Given the description of an element on the screen output the (x, y) to click on. 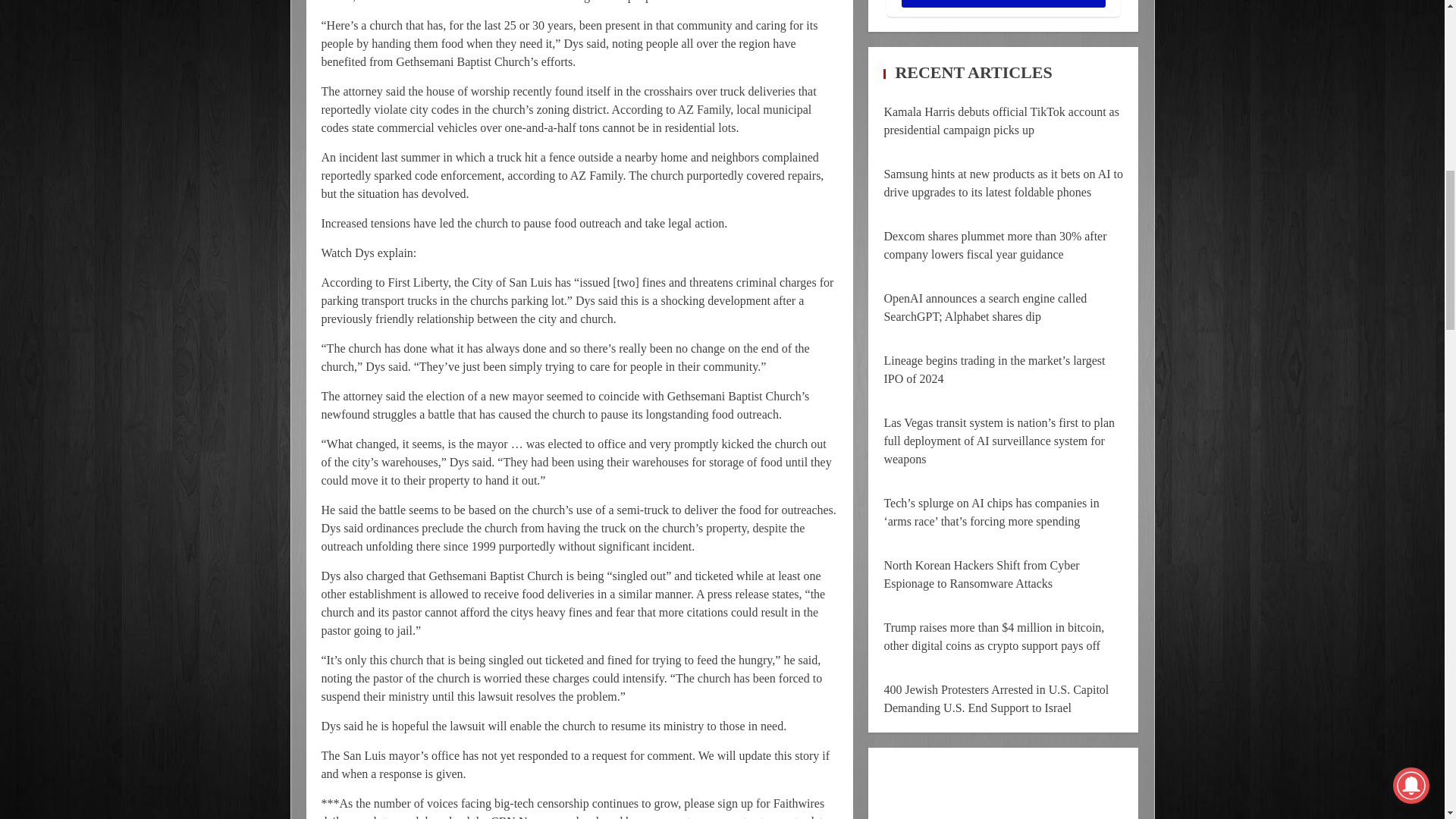
Sign Up! (1003, 3)
Sign Up! (1003, 3)
